Given the description of an element on the screen output the (x, y) to click on. 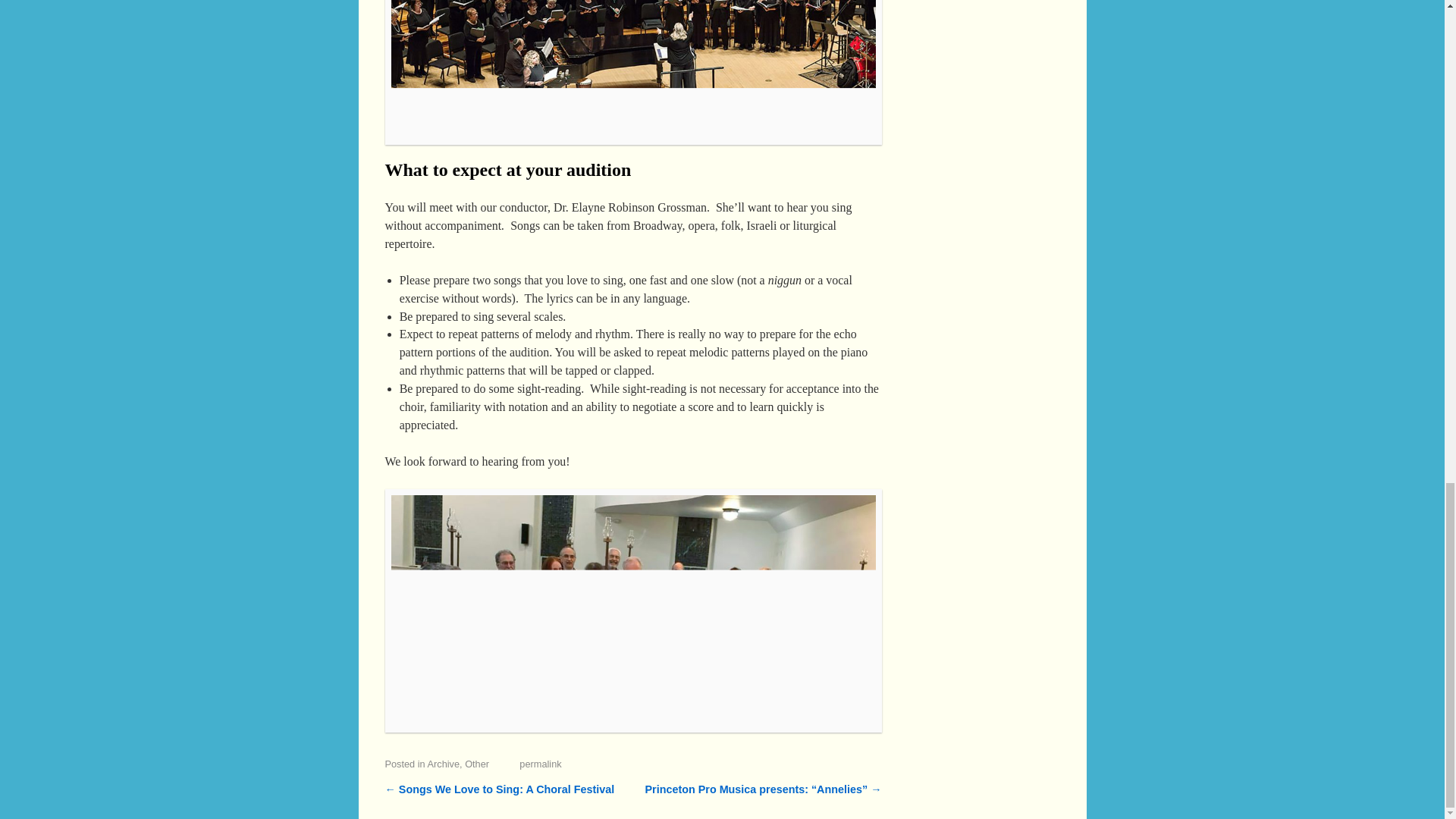
Permalink to Audition for 2021-2022 Season 22 (539, 763)
Archive (444, 763)
permalink (539, 763)
Other (476, 763)
